Given the description of an element on the screen output the (x, y) to click on. 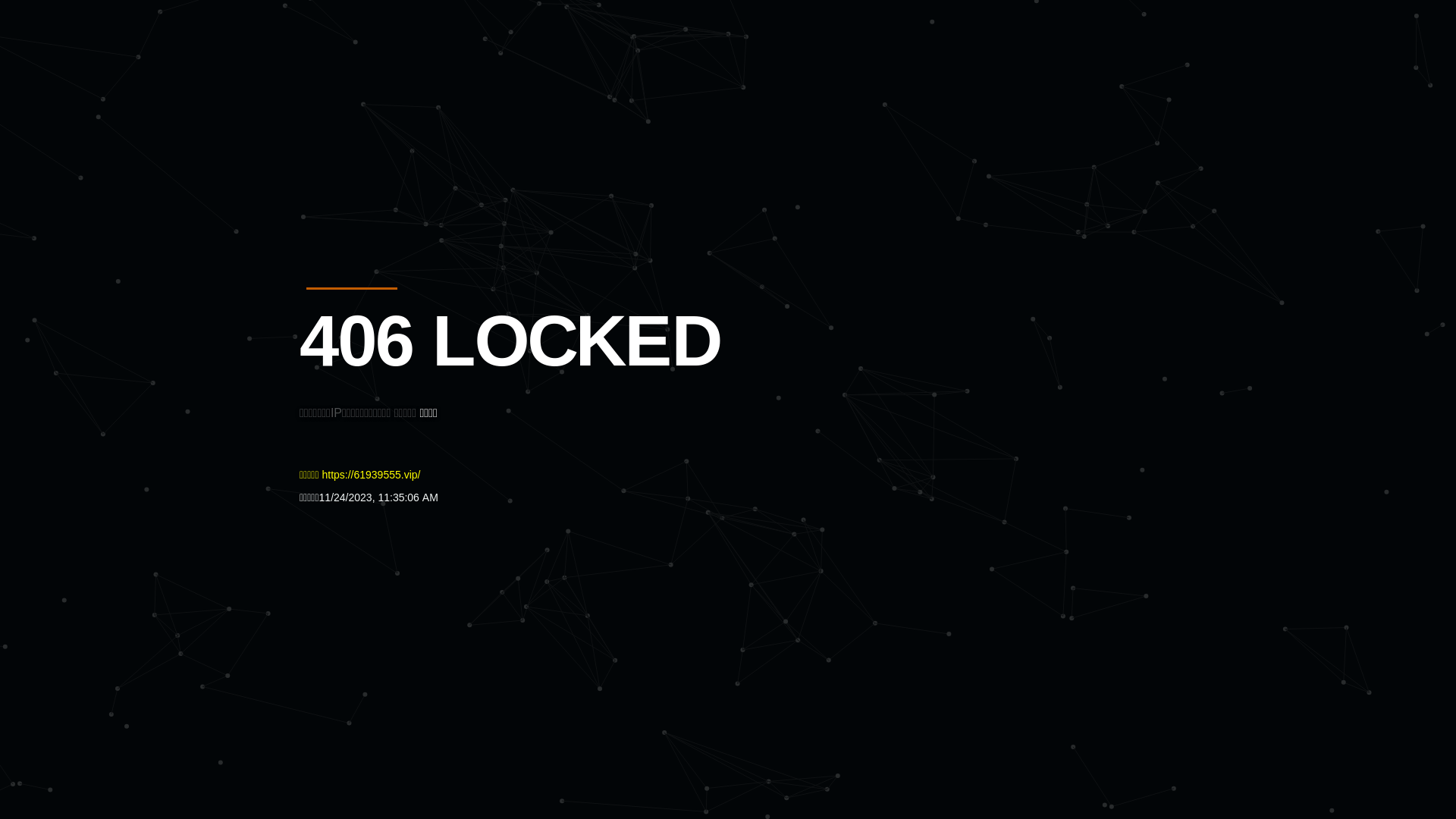
Quatro Element type: text (410, 86)
